Given the description of an element on the screen output the (x, y) to click on. 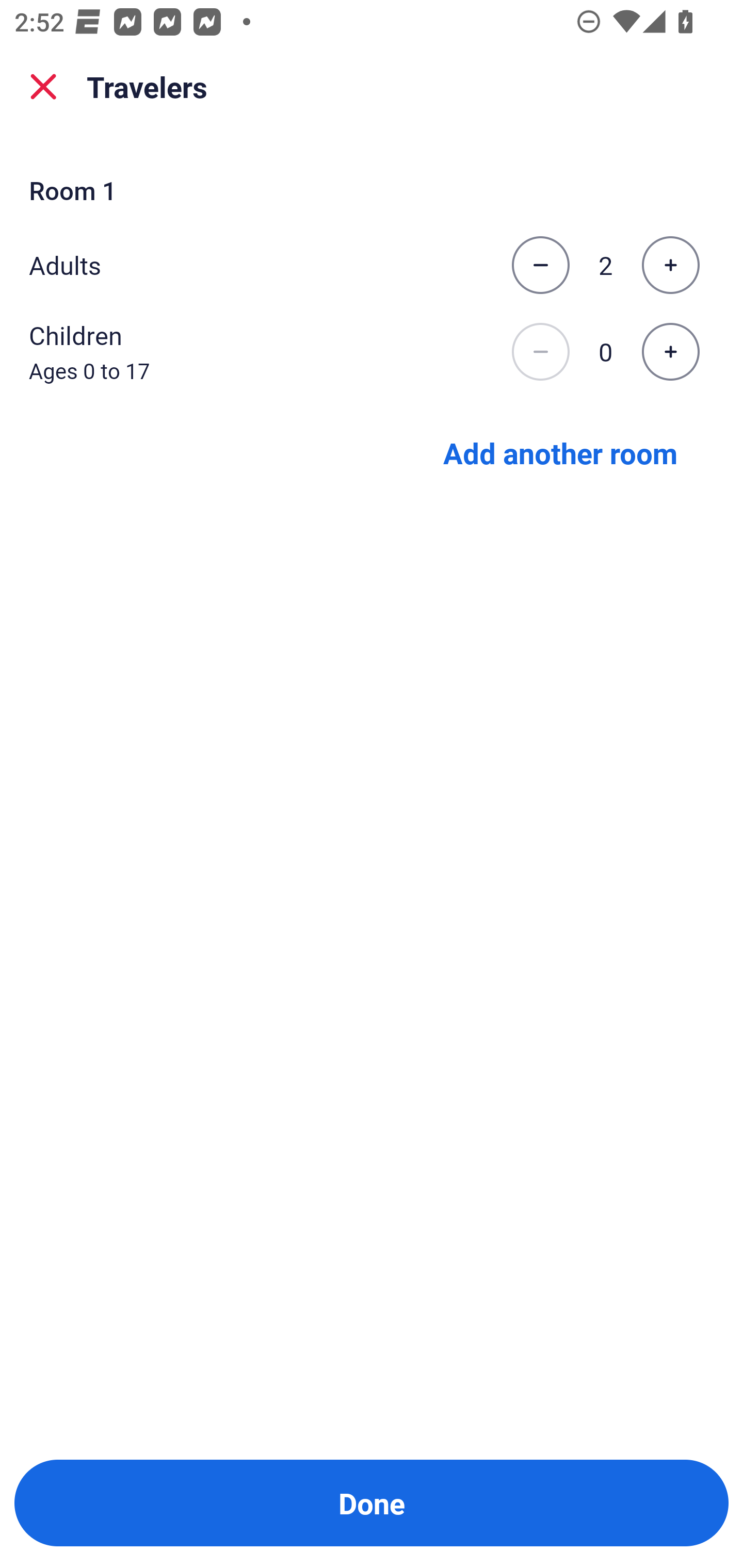
close (43, 86)
Decrease the number of adults (540, 264)
Increase the number of adults (670, 264)
Decrease the number of children (540, 351)
Increase the number of children (670, 351)
Add another room (560, 452)
Done (371, 1502)
